Given the description of an element on the screen output the (x, y) to click on. 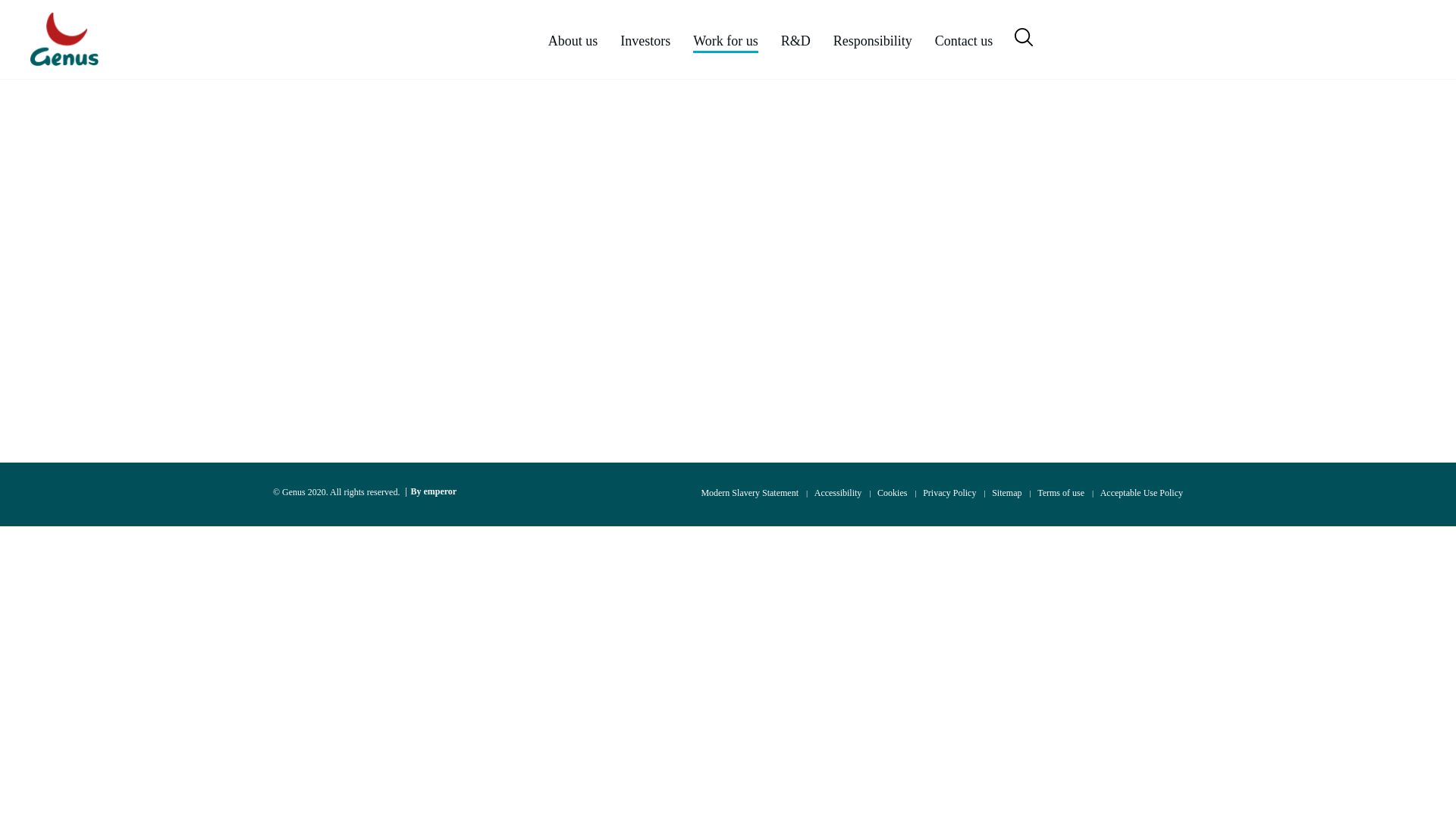
Work for us (725, 40)
Contact us (963, 40)
Responsibility (872, 40)
Investors (644, 40)
About us (573, 40)
